Given the description of an element on the screen output the (x, y) to click on. 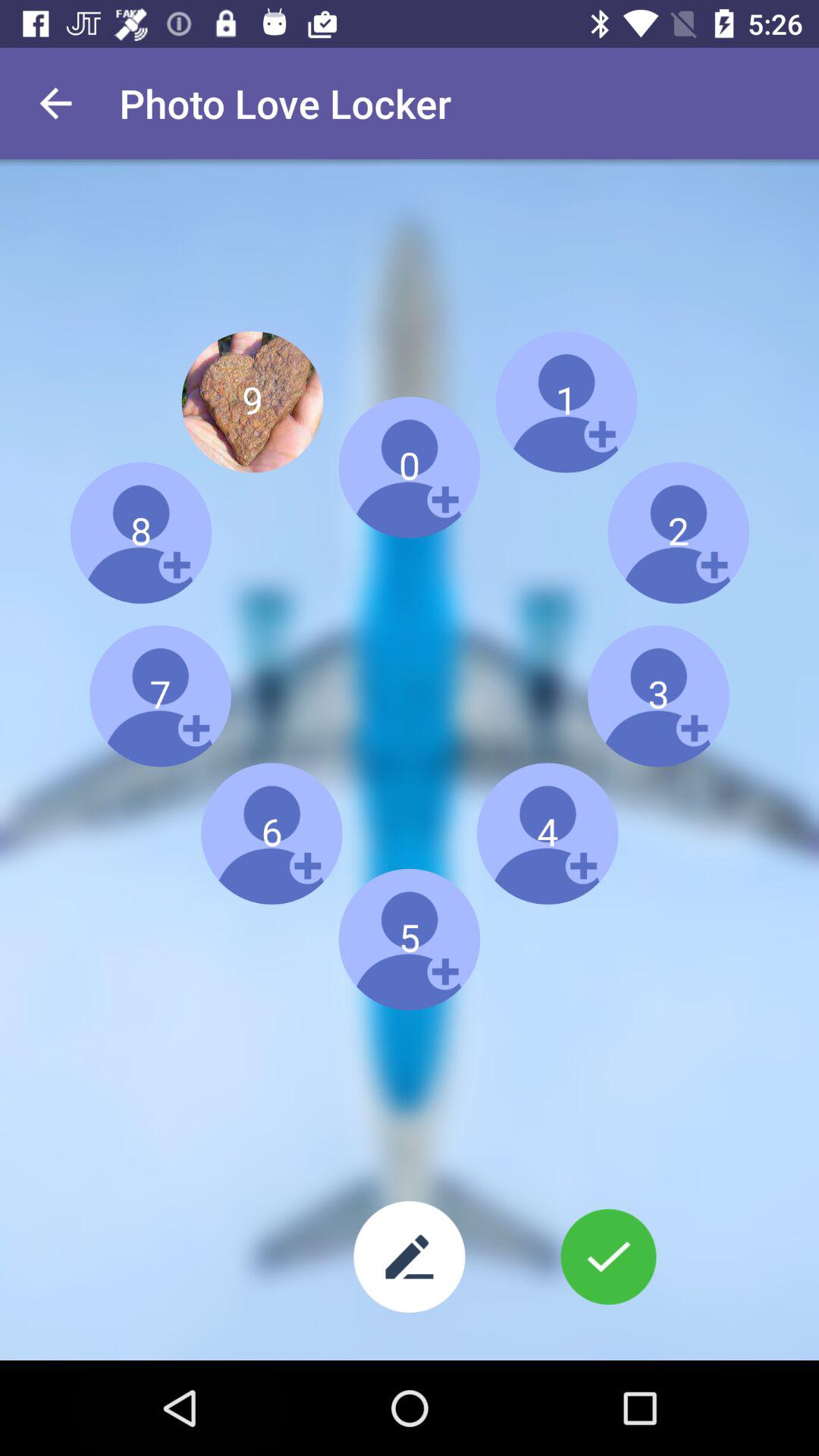
click the app to the left of the photo love locker icon (55, 103)
